Given the description of an element on the screen output the (x, y) to click on. 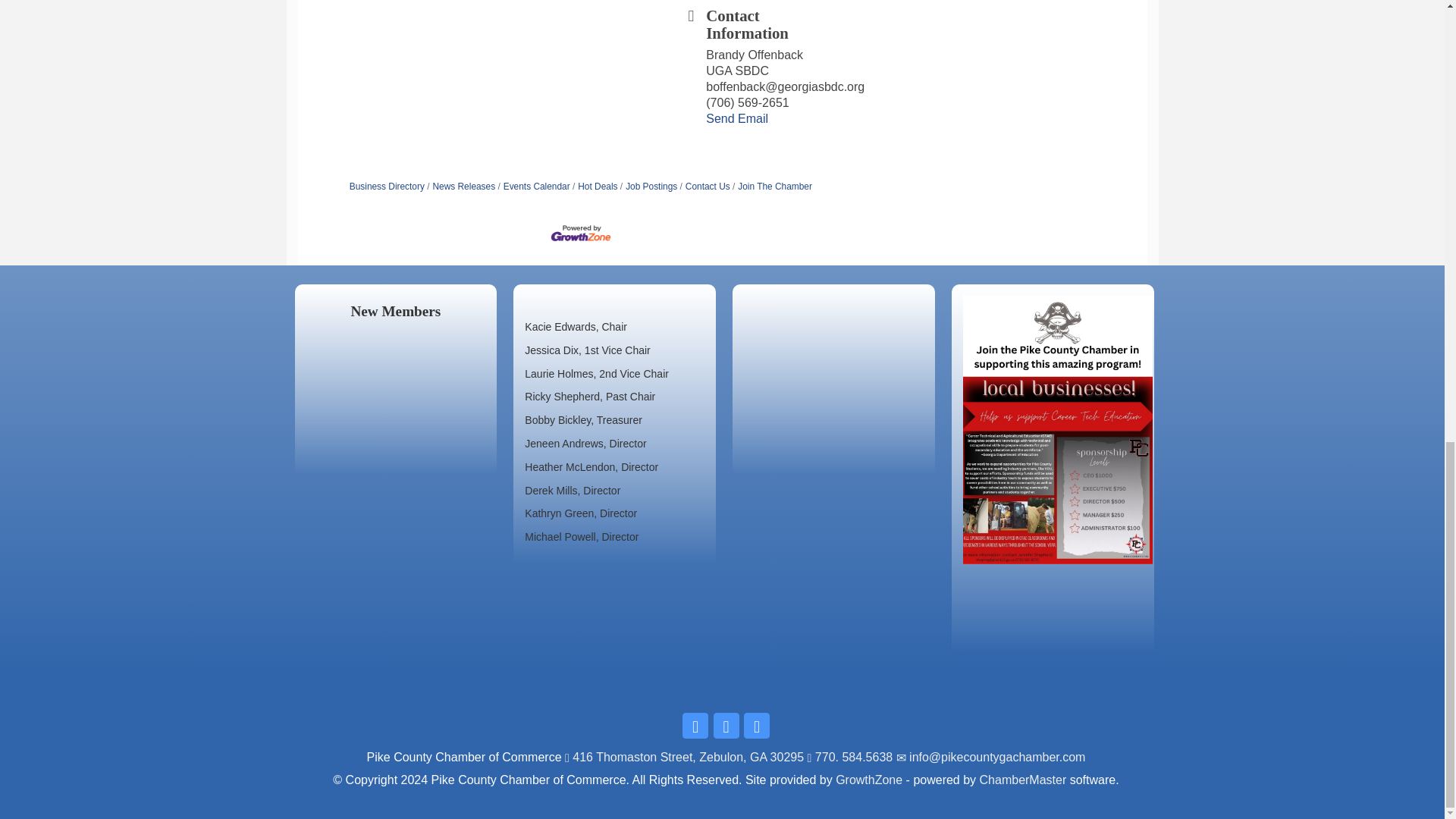
Business Directory (387, 185)
News Releases (460, 185)
Icon Link (694, 725)
Icon Link (757, 725)
Events Calendar (533, 185)
Icon Link (725, 725)
Send Email (737, 118)
Job Postings (648, 185)
Hot Deals (594, 185)
